Given the description of an element on the screen output the (x, y) to click on. 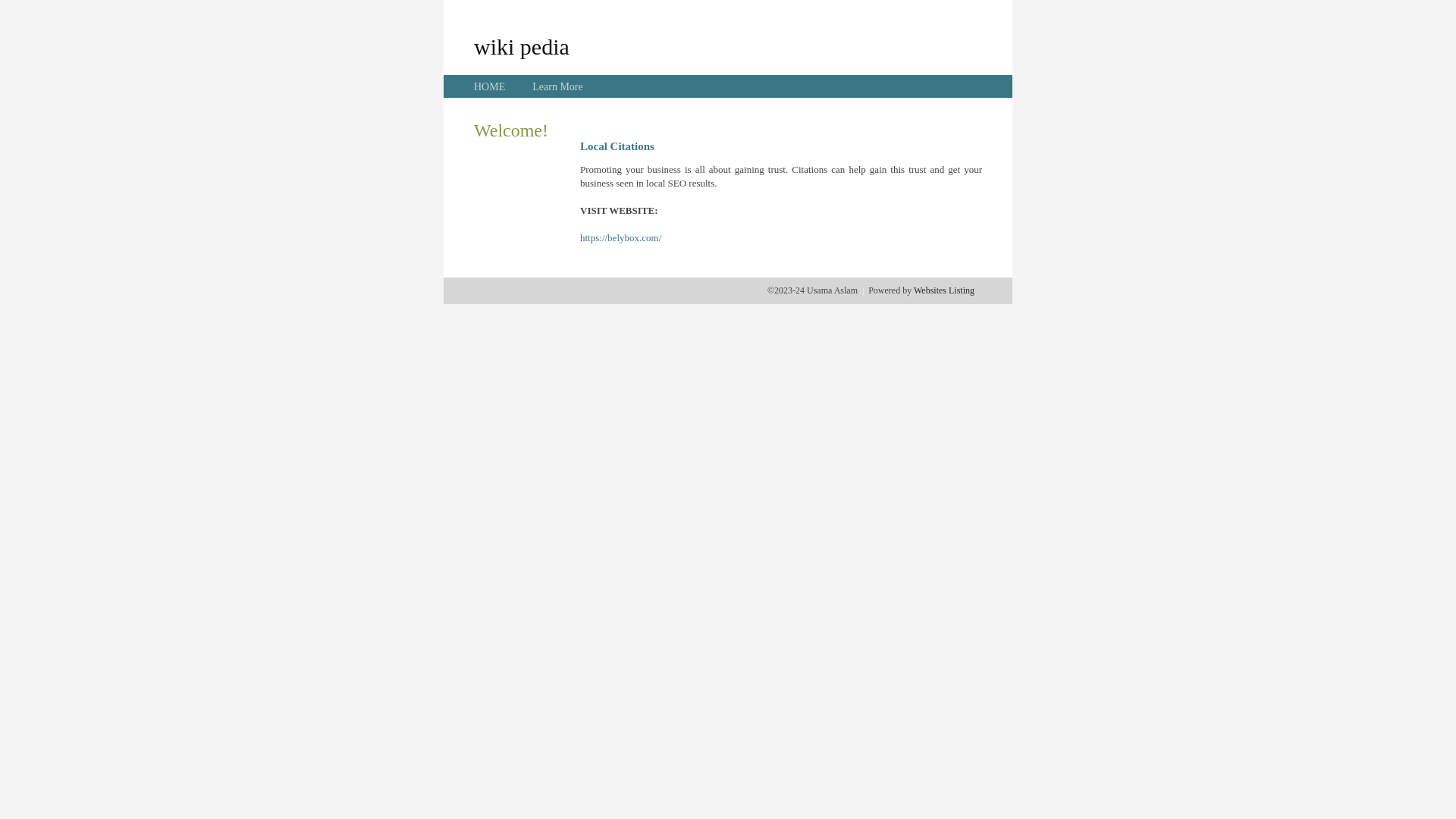
HOME Element type: text (489, 86)
Websites Listing Element type: text (943, 290)
wiki pedia Element type: text (521, 46)
https://belybox.com/ Element type: text (620, 237)
Learn More Element type: text (557, 86)
